Given the description of an element on the screen output the (x, y) to click on. 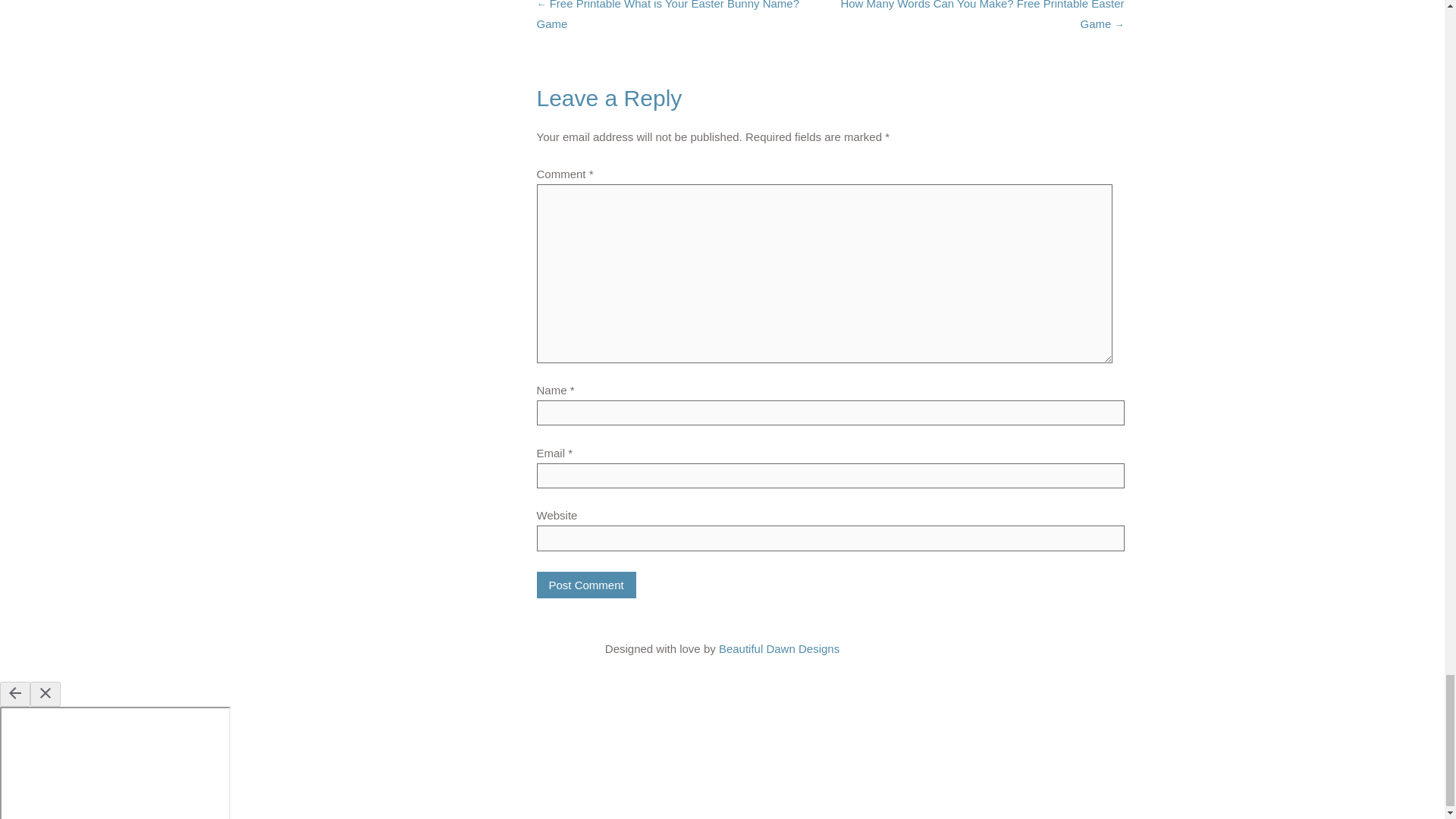
Post Comment (586, 584)
Post Comment (586, 584)
Beautiful Dawn Designs (779, 648)
